Given the description of an element on the screen output the (x, y) to click on. 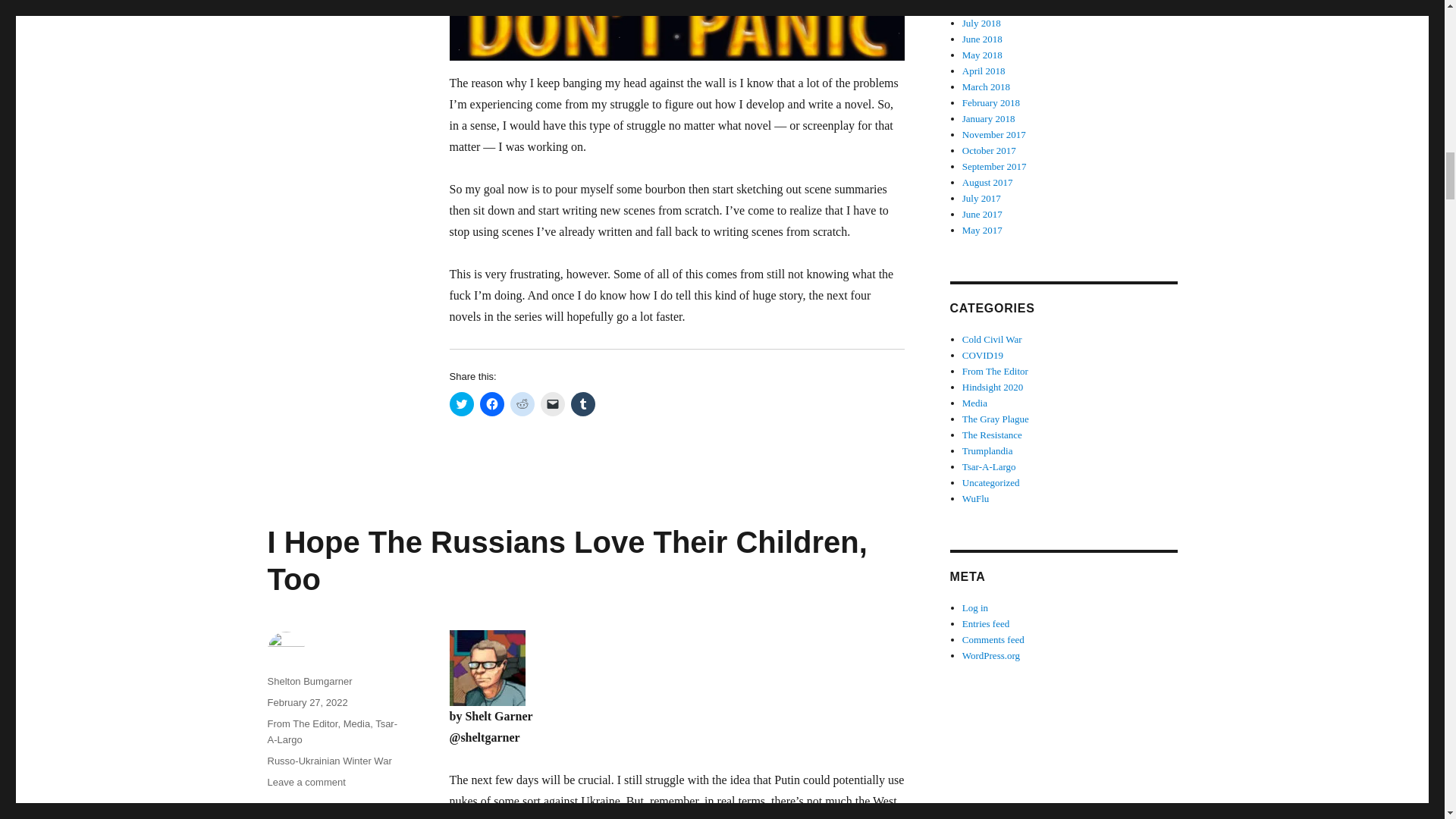
Click to share on Facebook (491, 404)
I Hope The Russians Love Their Children, Too (566, 560)
Click to share on Reddit (521, 404)
February 27, 2022 (306, 702)
Media (356, 723)
From The Editor (301, 723)
Click to share on Tumblr (582, 404)
Click to email a link to a friend (552, 404)
Click to share on Twitter (460, 404)
Shelton Bumgarner (309, 681)
